Given the description of an element on the screen output the (x, y) to click on. 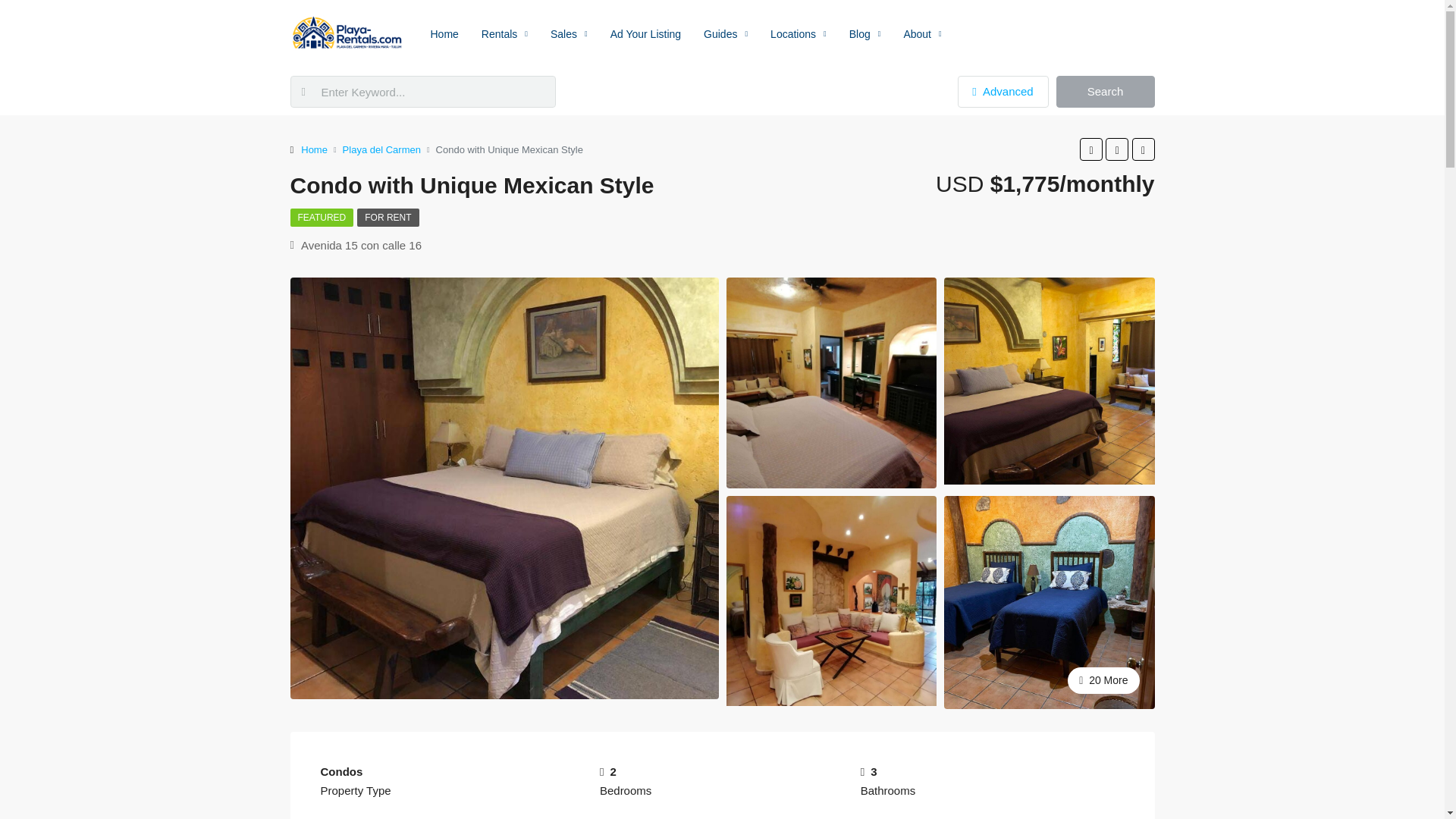
Guides (725, 33)
Rentals (504, 33)
Ad Your Listing (645, 33)
